Given the description of an element on the screen output the (x, y) to click on. 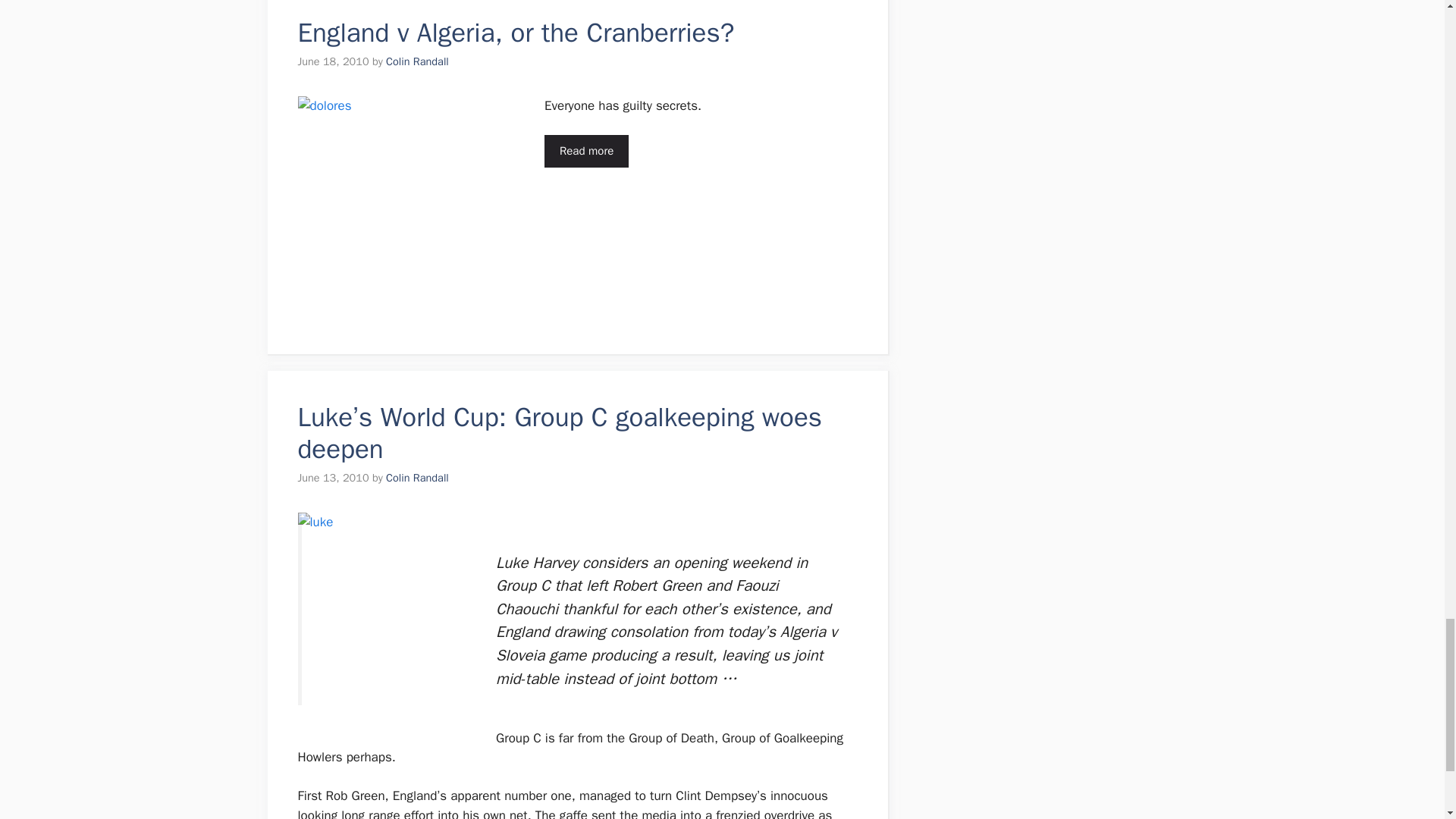
England v Algeria, or the Cranberries? (515, 32)
Read more (586, 151)
Colin Randall (416, 477)
Colin Randall (416, 60)
